Given the description of an element on the screen output the (x, y) to click on. 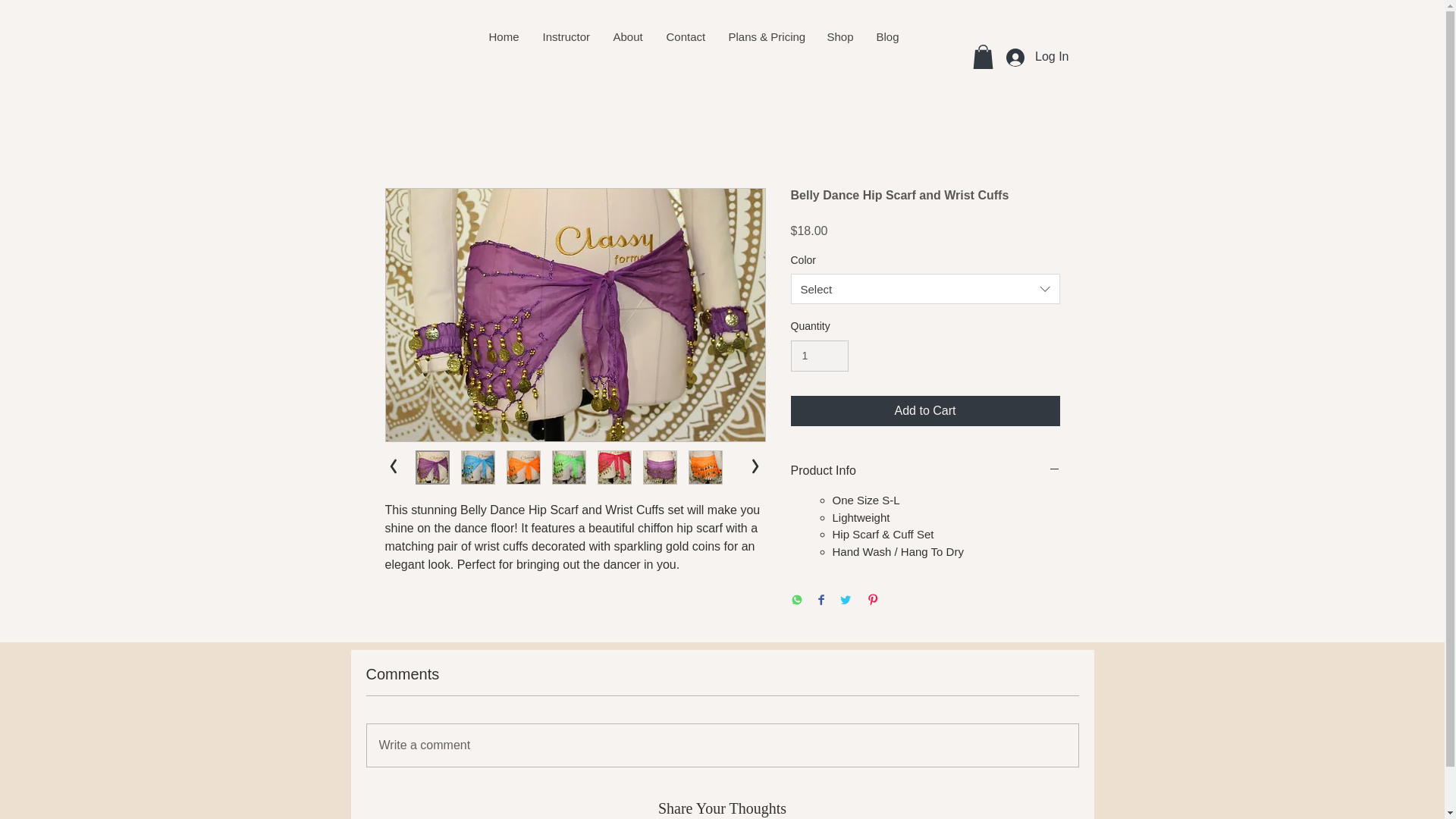
Contact (684, 36)
Add to Cart (924, 410)
Home (502, 36)
Select (924, 288)
Blog (887, 36)
Write a comment (722, 744)
Product Info (924, 470)
Log In (1036, 57)
Instructor (566, 36)
1 (818, 355)
About (626, 36)
Shop (838, 36)
